Given the description of an element on the screen output the (x, y) to click on. 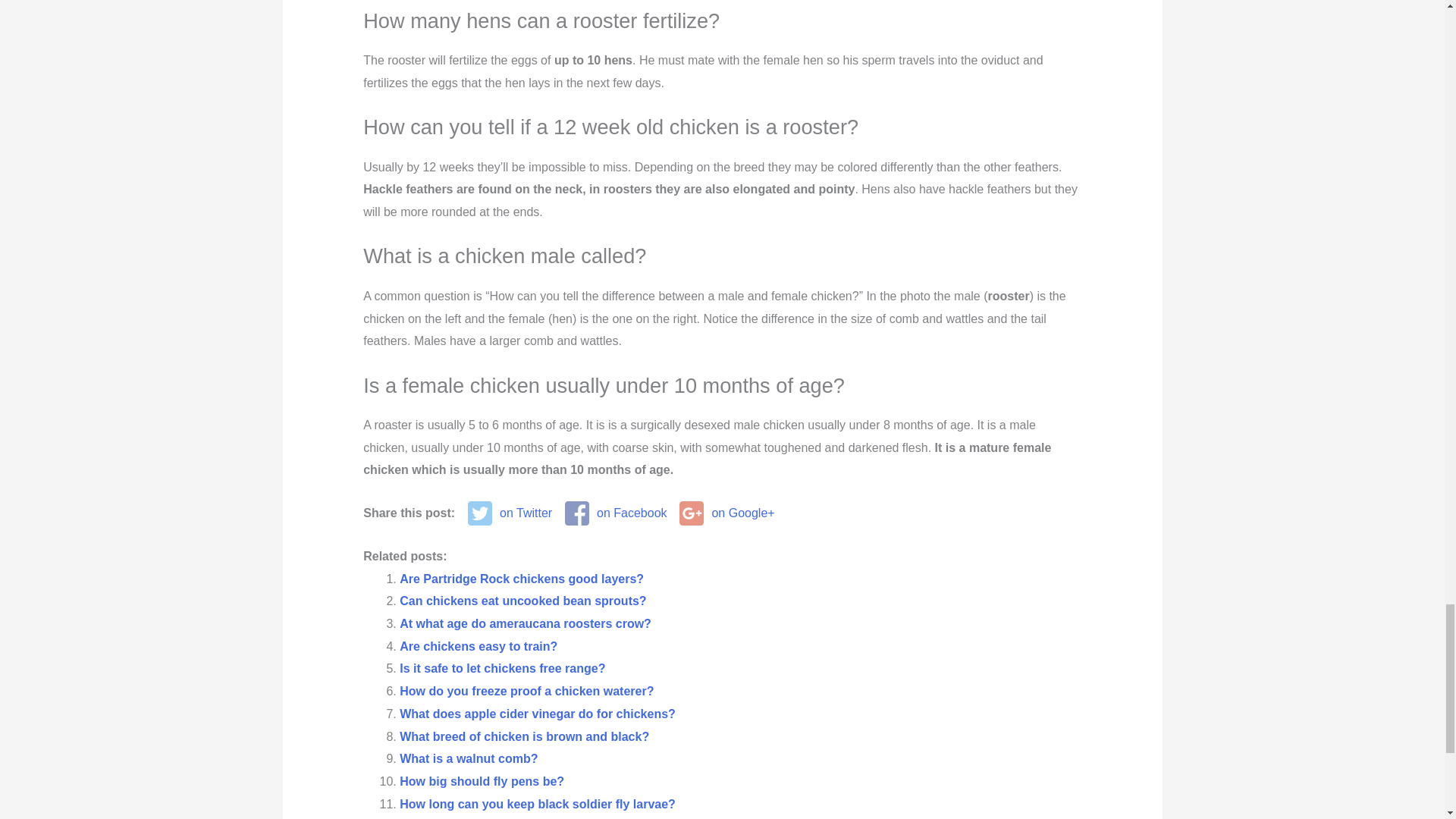
At what age do ameraucana roosters crow? (524, 623)
Can chickens eat uncooked bean sprouts? (522, 600)
on Facebook (615, 513)
Is it safe to let chickens free range? (501, 667)
How do you freeze proof a chicken waterer? (525, 690)
Are chickens easy to train? (477, 645)
Can chickens eat uncooked bean sprouts? (522, 600)
What does apple cider vinegar do for chickens? (536, 713)
What breed of chicken is brown and black? (523, 736)
Are Partridge Rock chickens good layers? (520, 578)
